Given the description of an element on the screen output the (x, y) to click on. 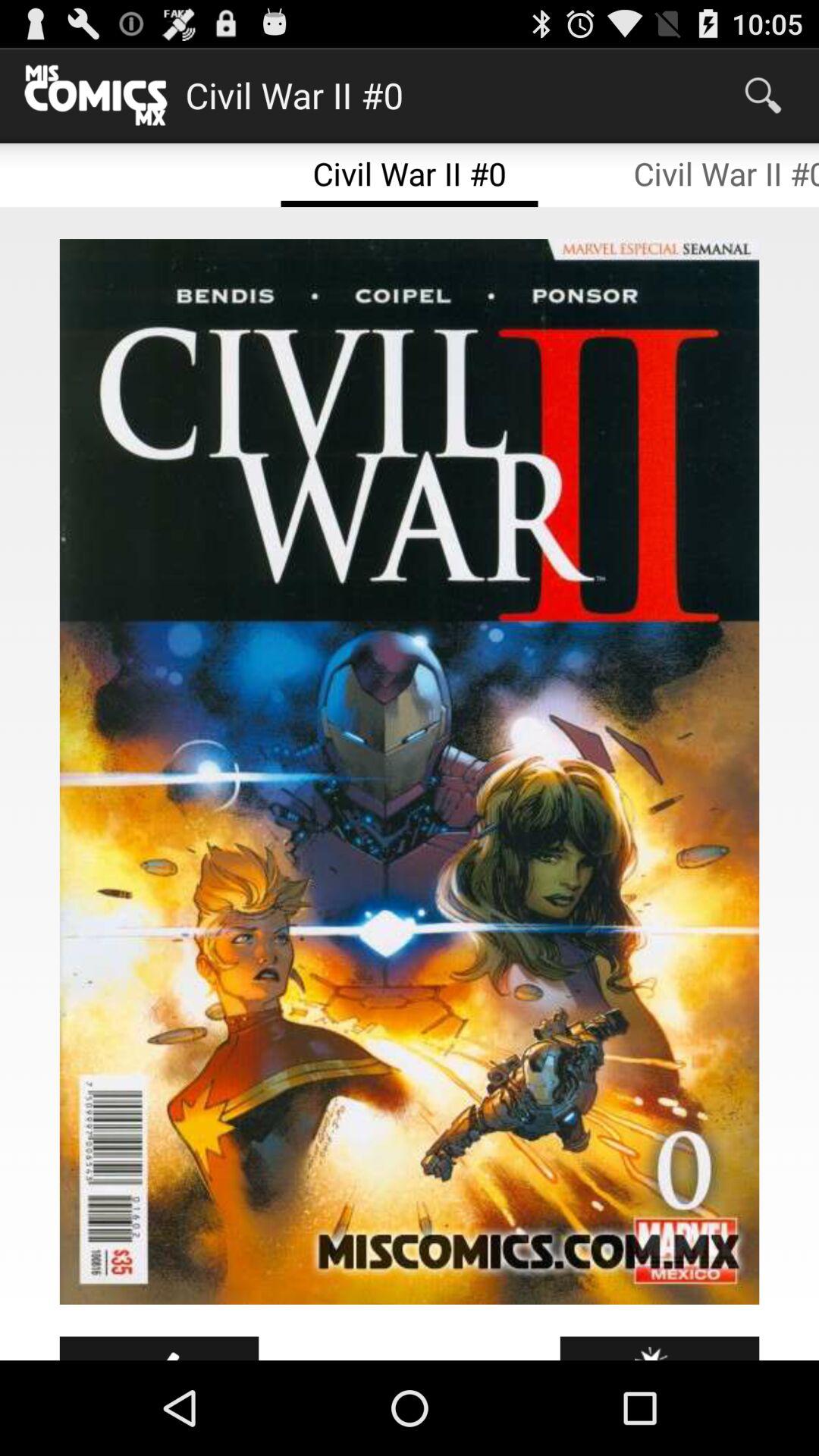
launch the app to the right of the civil war ii app (763, 95)
